Given the description of an element on the screen output the (x, y) to click on. 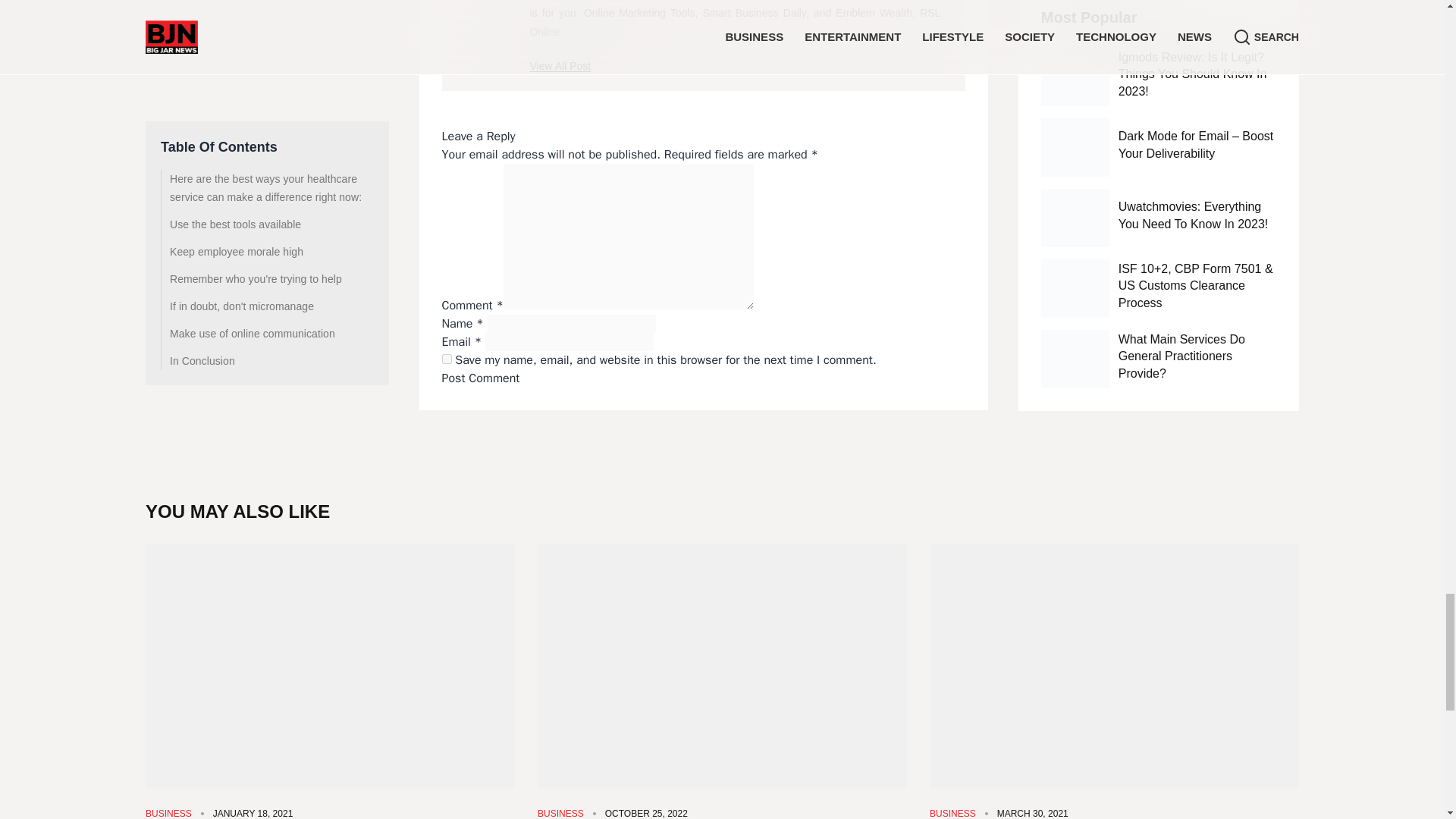
yes (446, 358)
Post Comment (480, 378)
Business (168, 813)
Business (560, 813)
Business (952, 813)
